Given the description of an element on the screen output the (x, y) to click on. 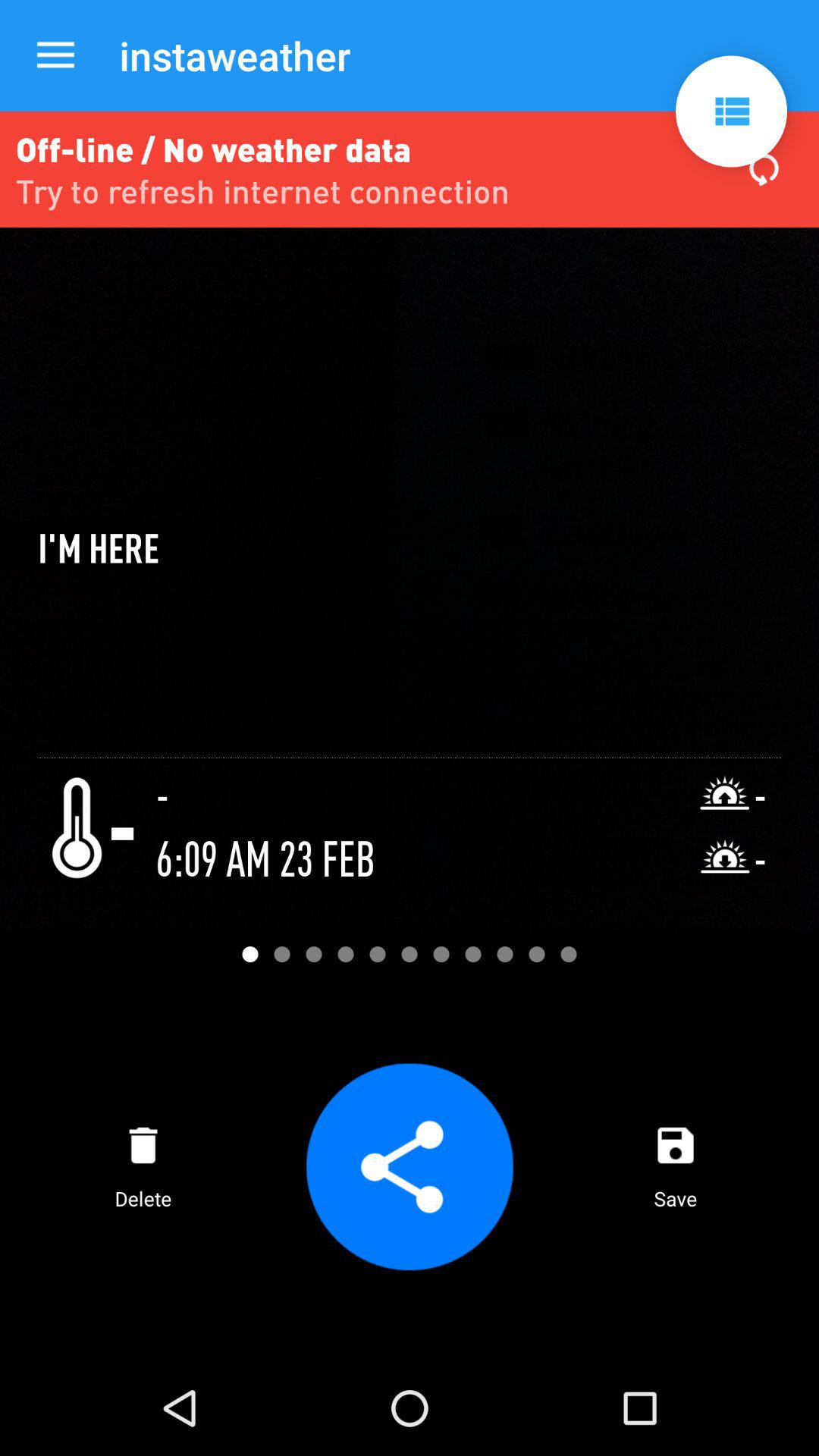
launch the app to the left of the save app (409, 1166)
